Given the description of an element on the screen output the (x, y) to click on. 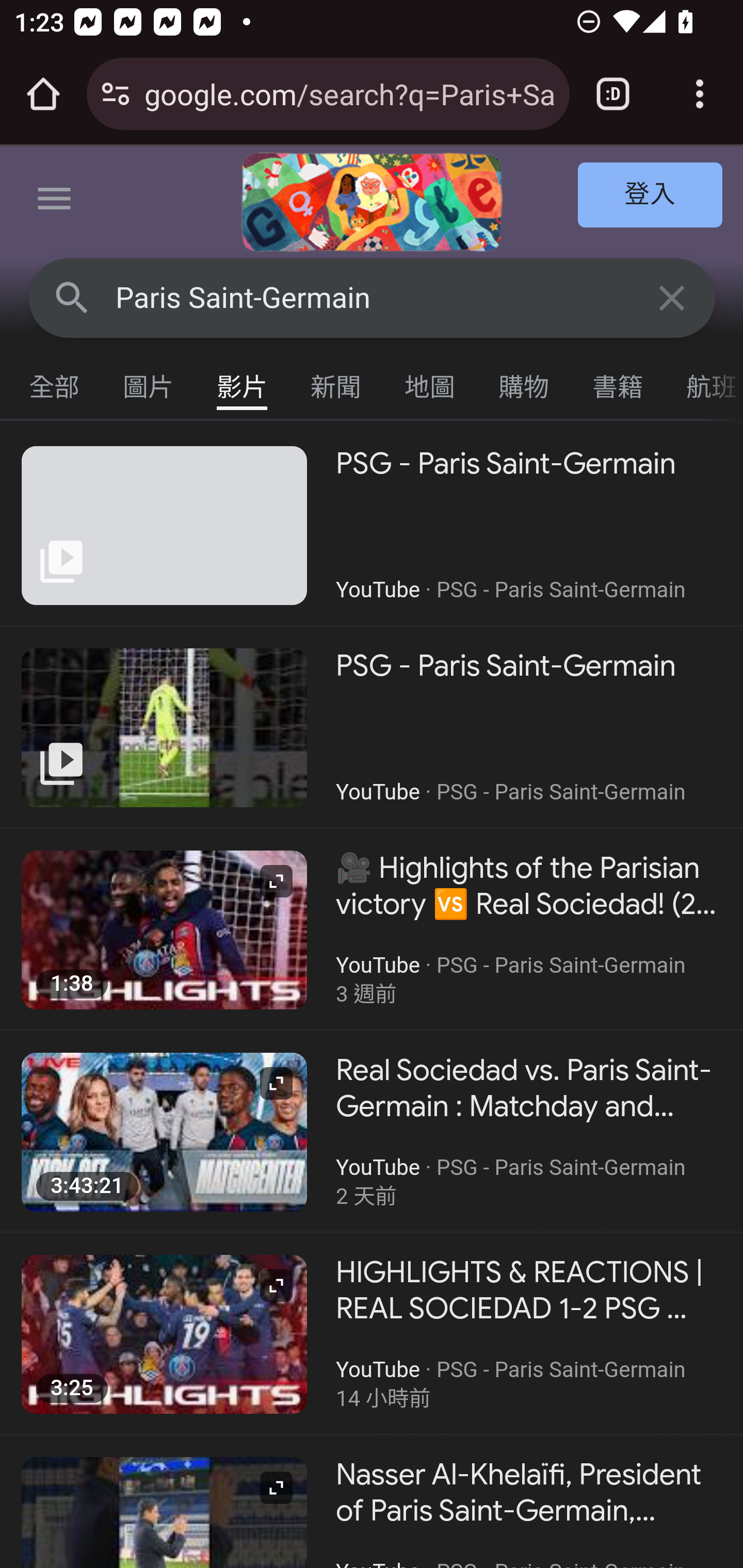
Open the home page (43, 93)
Connection is secure (115, 93)
Switch or close tabs (612, 93)
Customize and control Google Chrome (699, 93)
2024 年國際婦女節 (371, 202)
主選單 (54, 202)
登入 (650, 195)
Google 搜尋 (71, 296)
清除搜尋內容 (672, 296)
Paris Saint-Germain (372, 297)
全部 (54, 382)
圖片 (148, 382)
新聞 (336, 382)
地圖 (430, 382)
購物 (524, 382)
書籍 (618, 382)
航班 (703, 382)
